Given the description of an element on the screen output the (x, y) to click on. 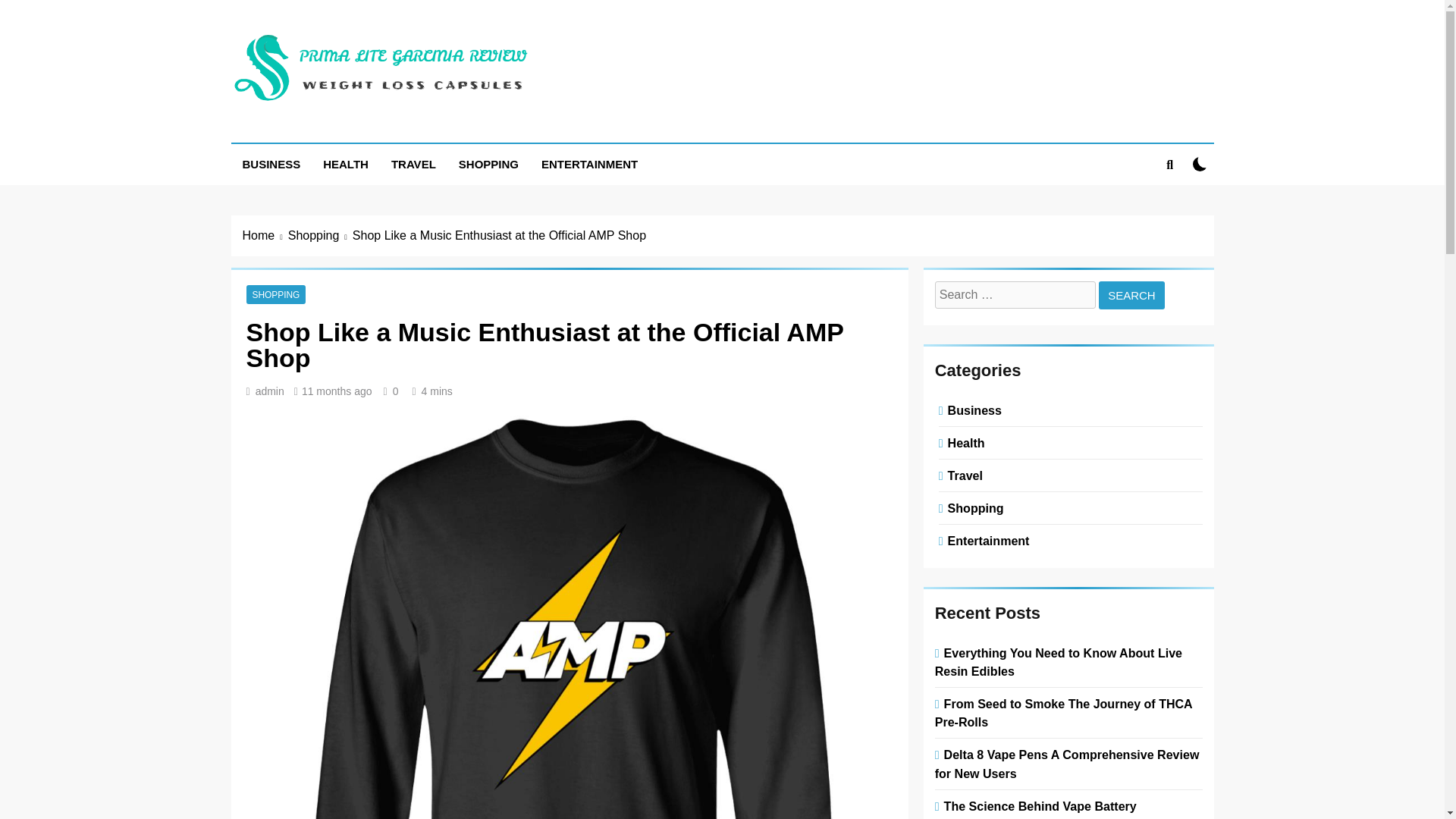
Search (1131, 295)
Prima Lite Garcinia Review (439, 128)
TRAVEL (413, 164)
Shopping (320, 235)
Home (265, 235)
ENTERTAINMENT (589, 164)
Entertainment (986, 540)
Travel (963, 475)
HEALTH (345, 164)
Everything You Need to Know About Live Resin Edibles (1058, 662)
